Given the description of an element on the screen output the (x, y) to click on. 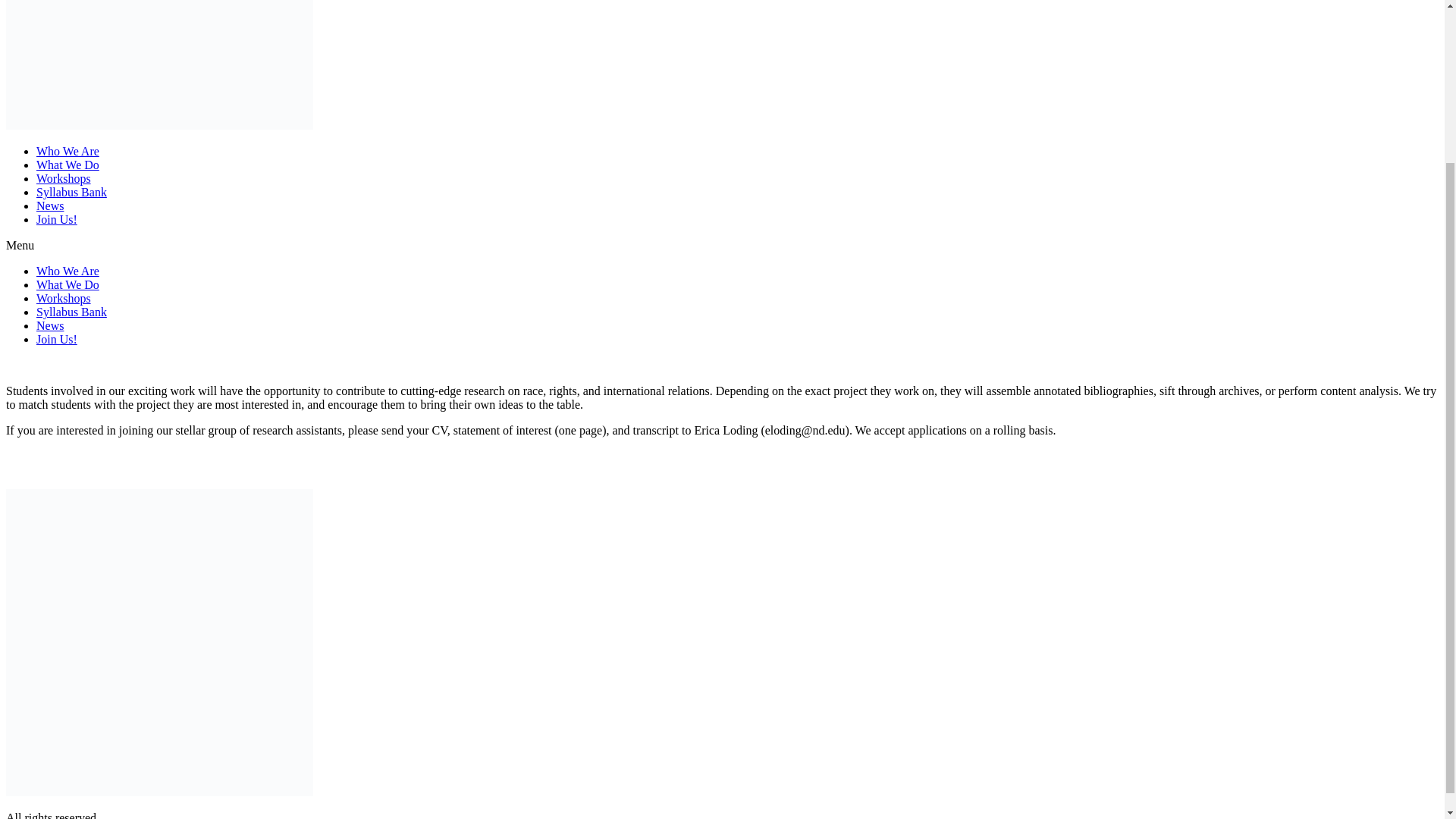
News (50, 325)
Who We Are (67, 270)
Join Us! (56, 338)
What We Do (67, 164)
News (50, 205)
Syllabus Bank (71, 311)
Join Us! (56, 219)
Syllabus Bank (71, 192)
What We Do (67, 284)
Workshops (63, 297)
Who We Are (67, 151)
Workshops (63, 178)
